Given the description of an element on the screen output the (x, y) to click on. 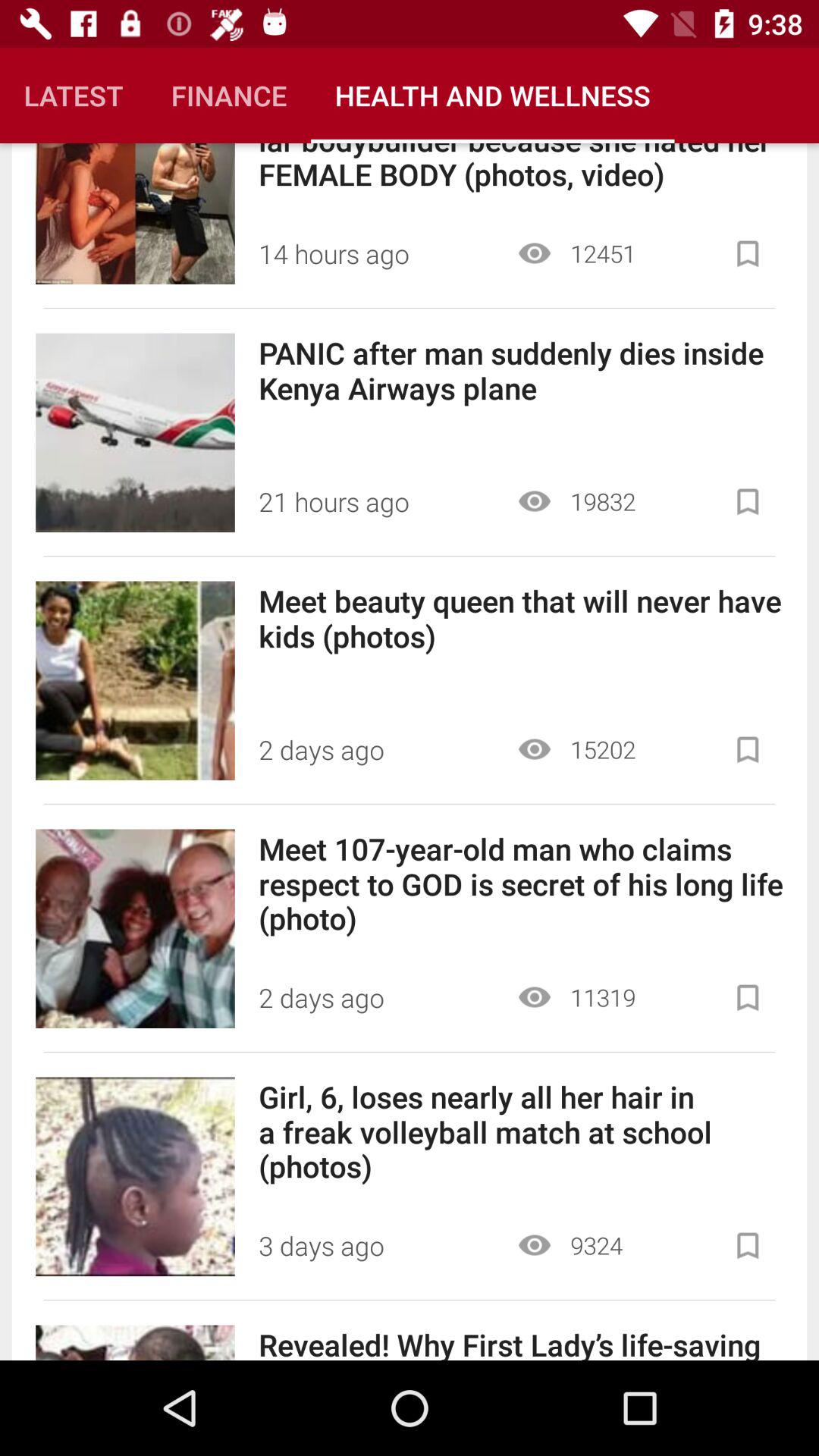
save article (747, 749)
